Given the description of an element on the screen output the (x, y) to click on. 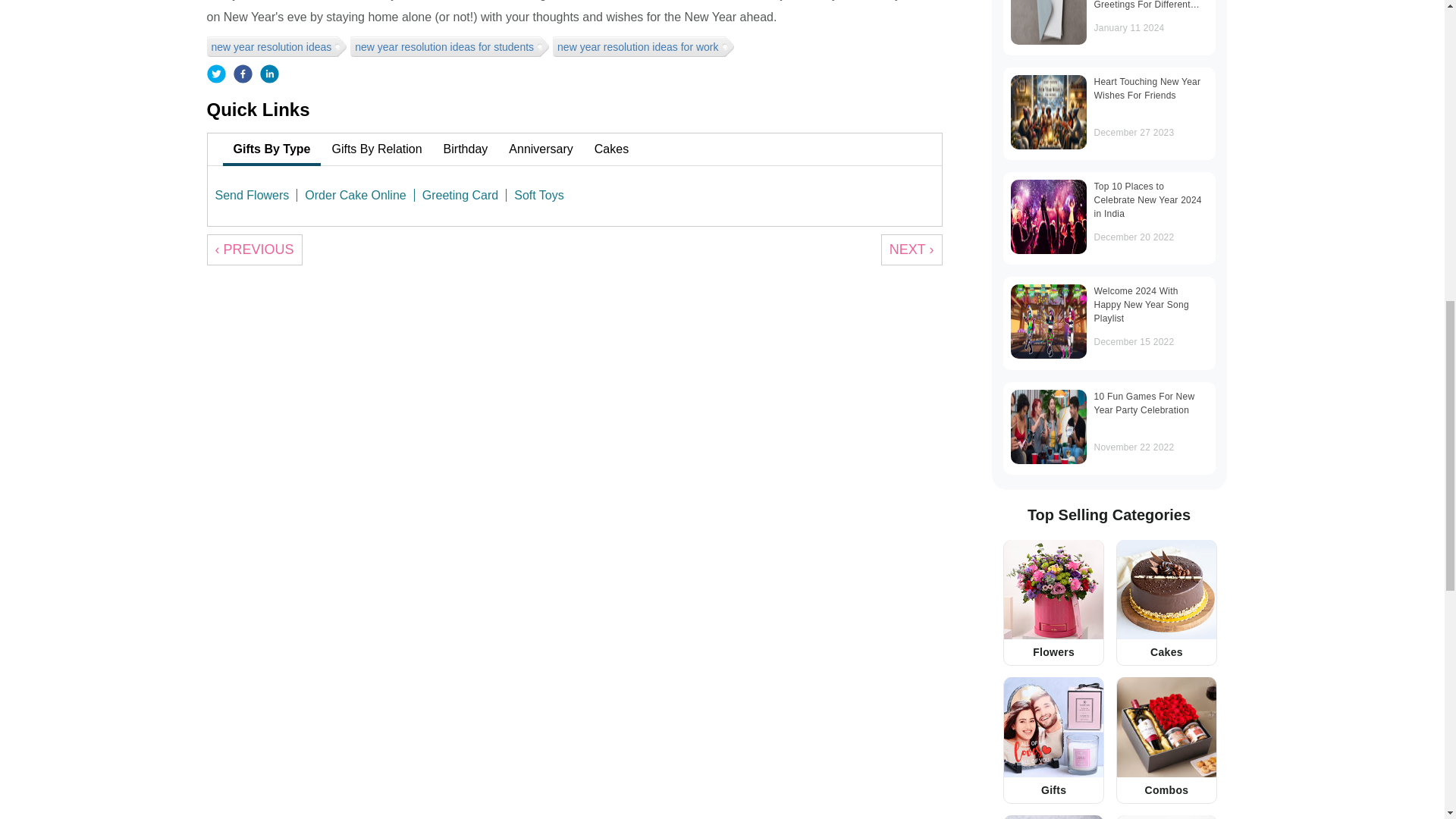
Send Gifts (1053, 726)
Send Flowers Gifts (1053, 589)
Send plants (1165, 816)
new year resolution ideas (272, 46)
Welcome 2024 With Happy New Year Song Playlist (1048, 321)
Send Cakes (1165, 589)
Send Personalised Gifts (1053, 816)
10 Fun Games For New Year Party Celebration (1048, 426)
Gifts By Type (271, 149)
Top 10 Places to Celebrate New Year 2024 in India (1048, 216)
new year resolution ideas for students (446, 46)
new year resolution ideas for work (639, 46)
Heart Touching New Year Wishes For Friends (1048, 112)
Birthday (465, 149)
